Given the description of an element on the screen output the (x, y) to click on. 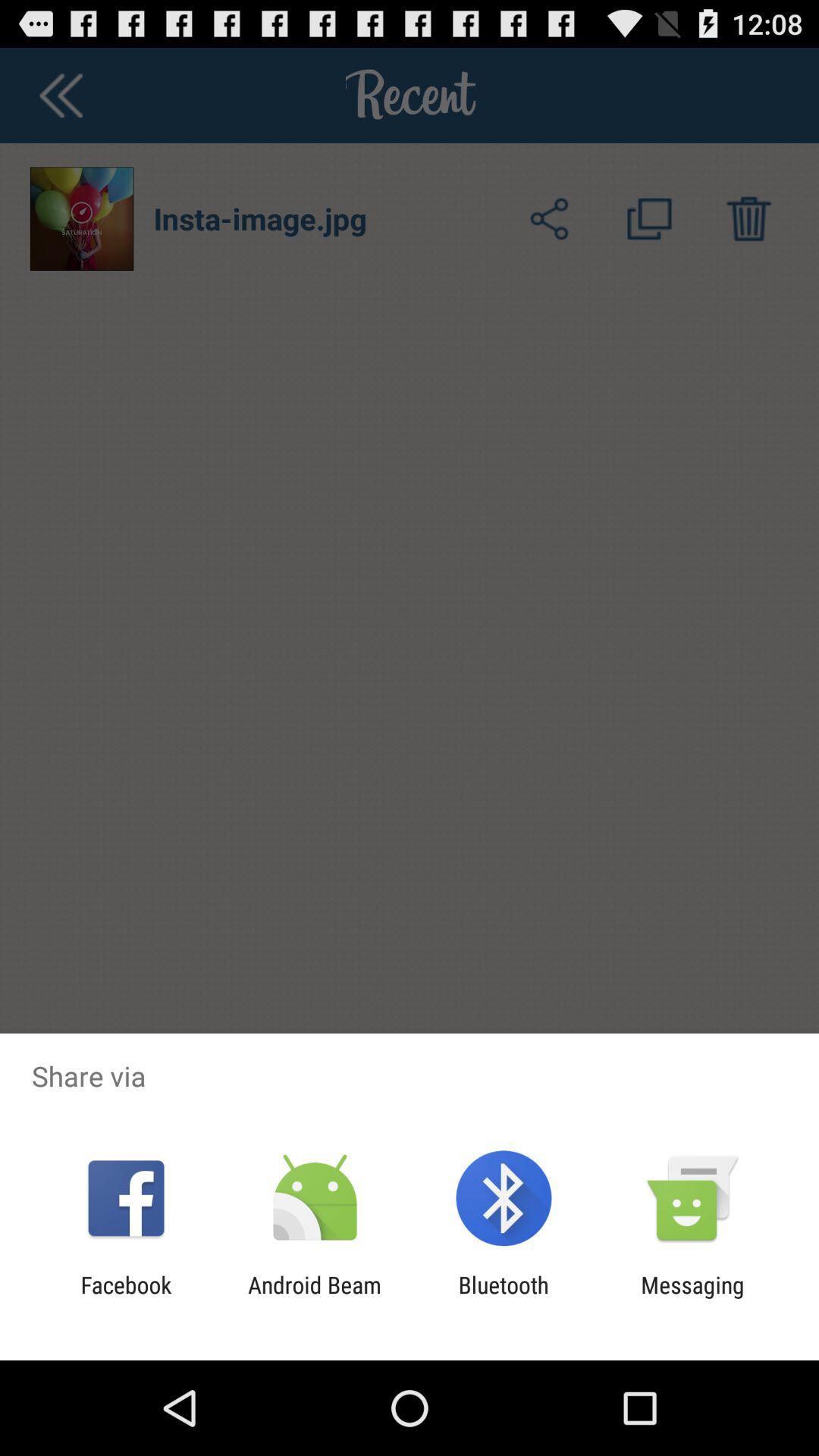
turn on bluetooth (503, 1298)
